Given the description of an element on the screen output the (x, y) to click on. 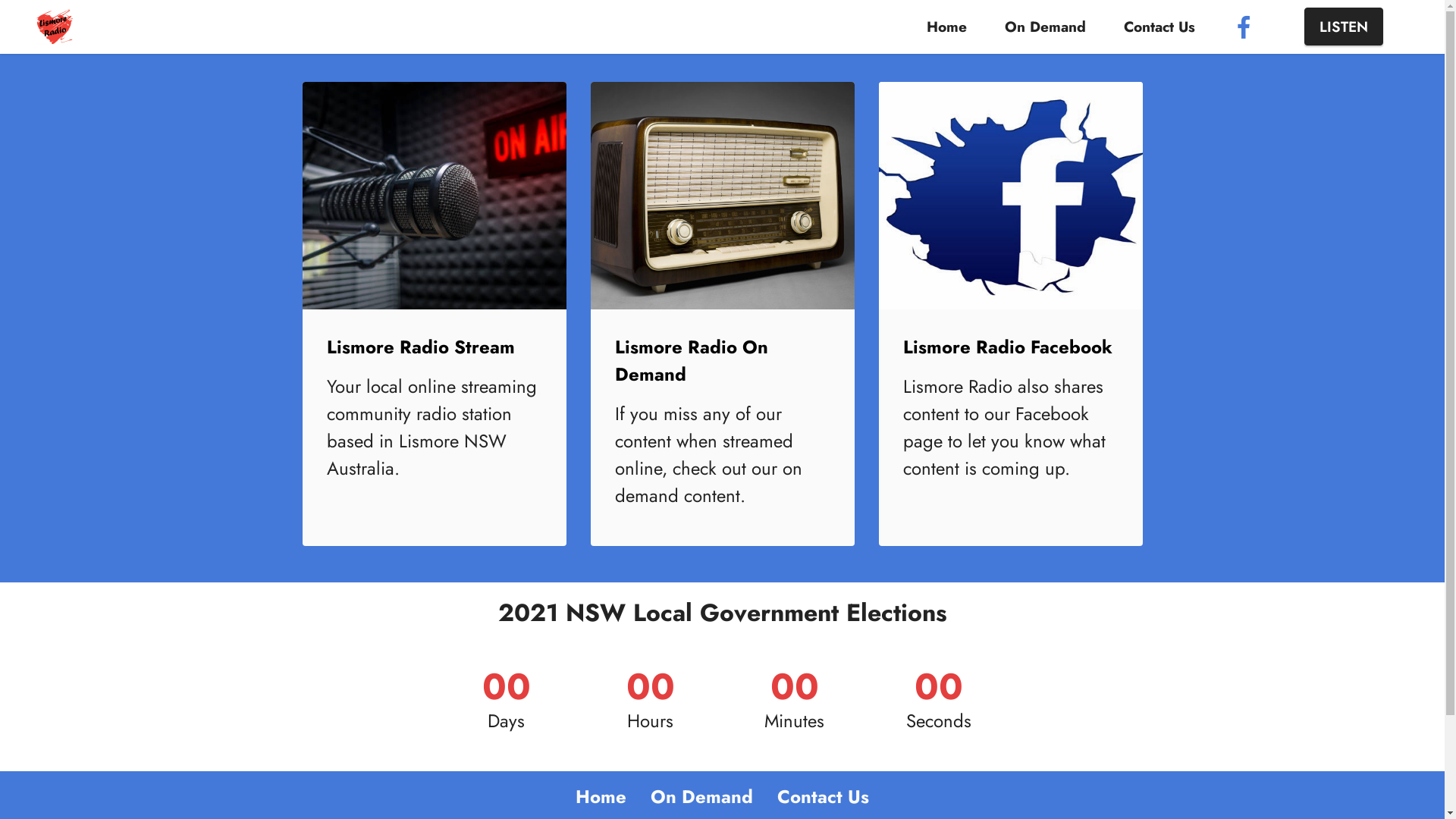
Contact Us Element type: text (823, 796)
On Demand Element type: text (701, 796)
Contact Us Element type: text (1159, 26)
Lismore Radio Facebook Element type: text (1006, 346)
Home Element type: text (947, 26)
LISTEN Element type: text (1343, 26)
On Demand Element type: text (1045, 26)
Home Element type: text (600, 796)
Lismore Radio Stream Element type: text (420, 346)
Lismore Radio On Demand Element type: text (690, 360)
